Given the description of an element on the screen output the (x, y) to click on. 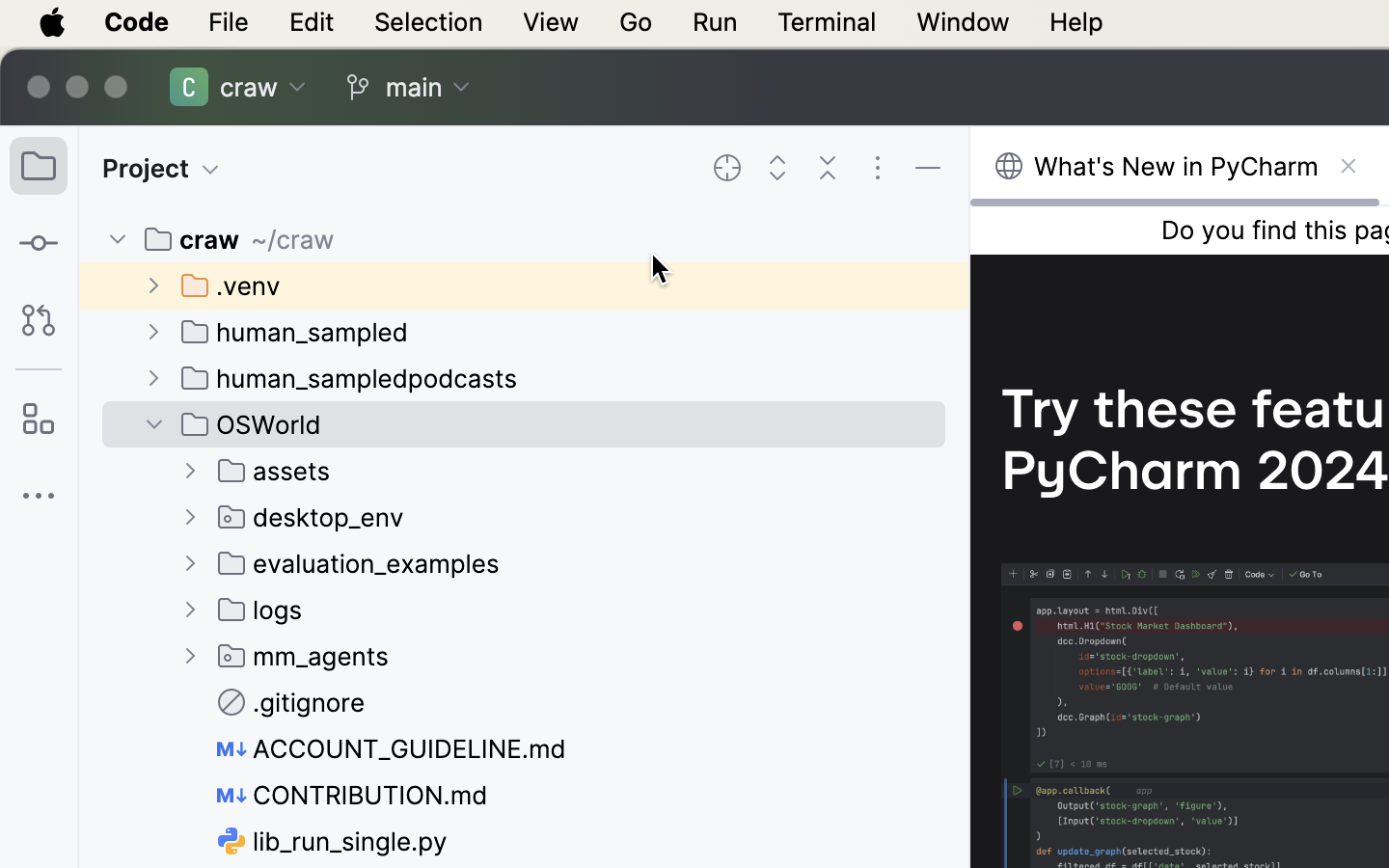
0 Element type: AXStaticText (239, 239)
human_sampledpodcasts Element type: AXStaticText (349, 377)
mm_agents Element type: AXStaticText (303, 655)
OSWorld Element type: AXStaticText (251, 424)
0 Element type: AXRadioButton (1174, 166)
